Given the description of an element on the screen output the (x, y) to click on. 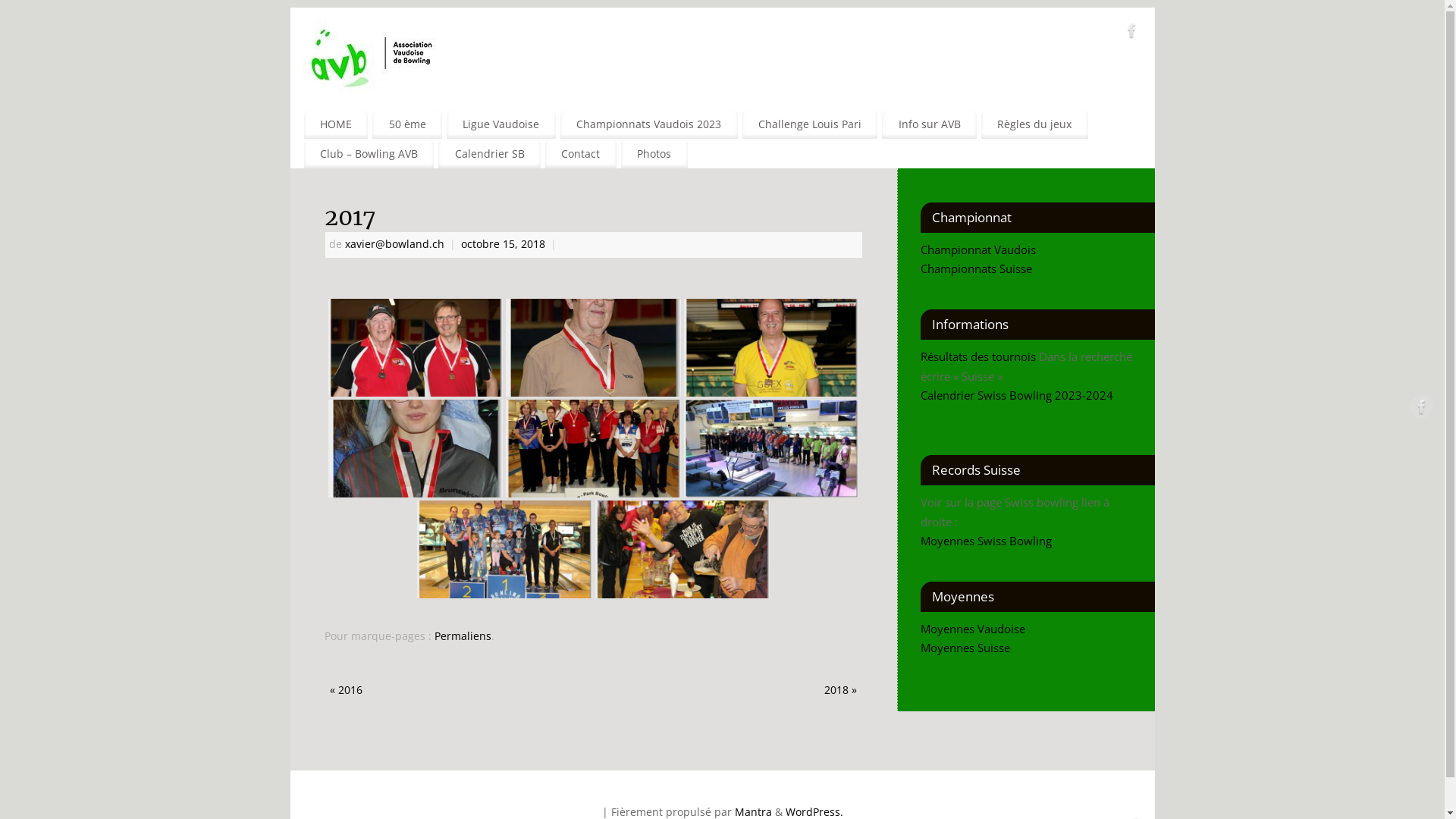
Ligue Vaudoise 2017 Element type: hover (681, 549)
Champ CH Juniors 2017 Element type: hover (415, 448)
Moyennes Suisse Element type: text (965, 647)
Challenge Louis Pari Element type: text (809, 123)
Champ CH individuel b-c 2017 Element type: hover (592, 347)
HOME Element type: text (335, 123)
Moyennes Vaudoise Element type: text (972, 628)
Ligue Vaudoise Element type: text (500, 123)
Calendrier SB Element type: text (489, 152)
Champ CH individuel A 2017  Element type: hover (771, 347)
Championnat Vaudois  Element type: text (979, 249)
Championnats Vaudois 2023 Element type: text (648, 123)
Facebook Element type: hover (1421, 409)
Champ CH doublette homme 2017 Element type: hover (415, 347)
Info sur AVB Element type: text (928, 123)
Moyennes Swiss Bowling Element type: text (985, 540)
Contact Element type: text (580, 152)
Calendrier Swiss Bowling 2023-2024 Element type: text (1016, 394)
Facebook Element type: hover (1131, 32)
Permaliens Element type: text (461, 636)
Championnats Suisse Element type: text (976, 268)
Photos Element type: text (654, 152)
Ligue Nationale 2017 Element type: hover (771, 448)
Champ Vaudois 2017 Element type: hover (504, 549)
xavier@bowland.ch Element type: text (393, 244)
octobre 15, 2018 Element type: text (504, 244)
